Given the description of an element on the screen output the (x, y) to click on. 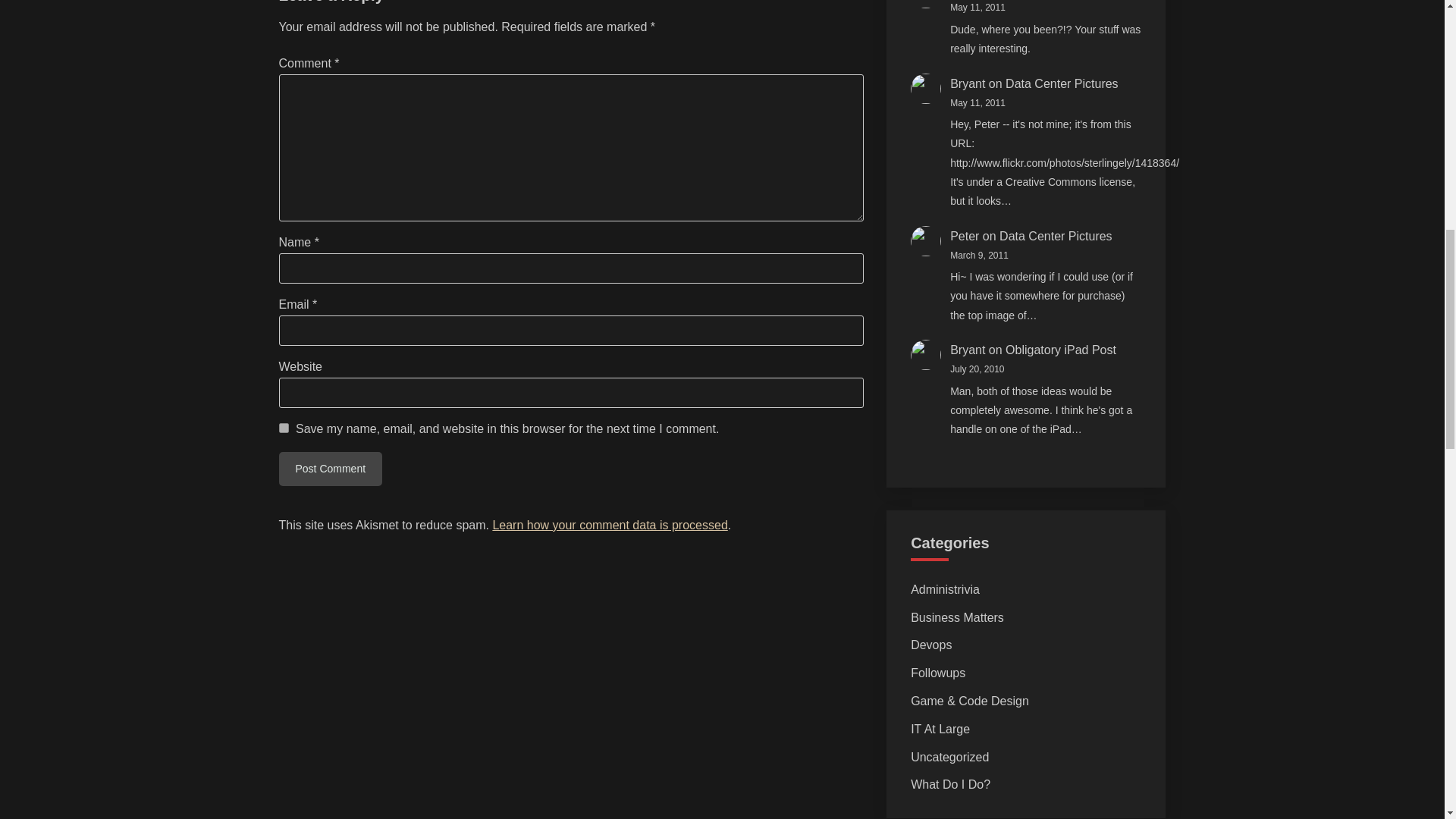
Post Comment (330, 469)
Learn how your comment data is processed (609, 524)
yes (283, 428)
Post Comment (330, 469)
